Given the description of an element on the screen output the (x, y) to click on. 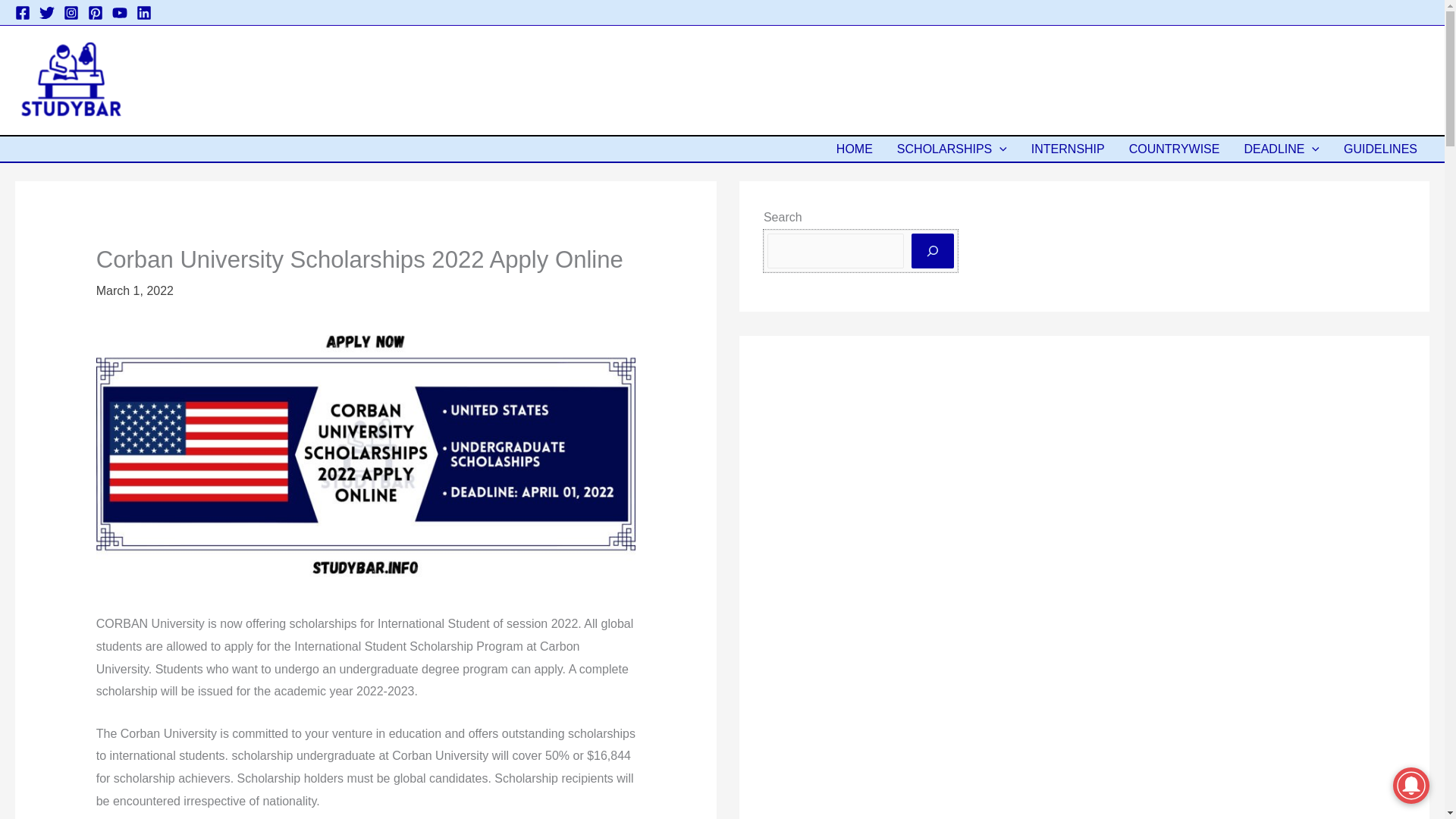
GUIDELINES (1380, 148)
COUNTRYWISE (1173, 148)
HOME (854, 148)
DEADLINE (1281, 148)
INTERNSHIP (1067, 148)
SCHOLARSHIPS (952, 148)
